Given the description of an element on the screen output the (x, y) to click on. 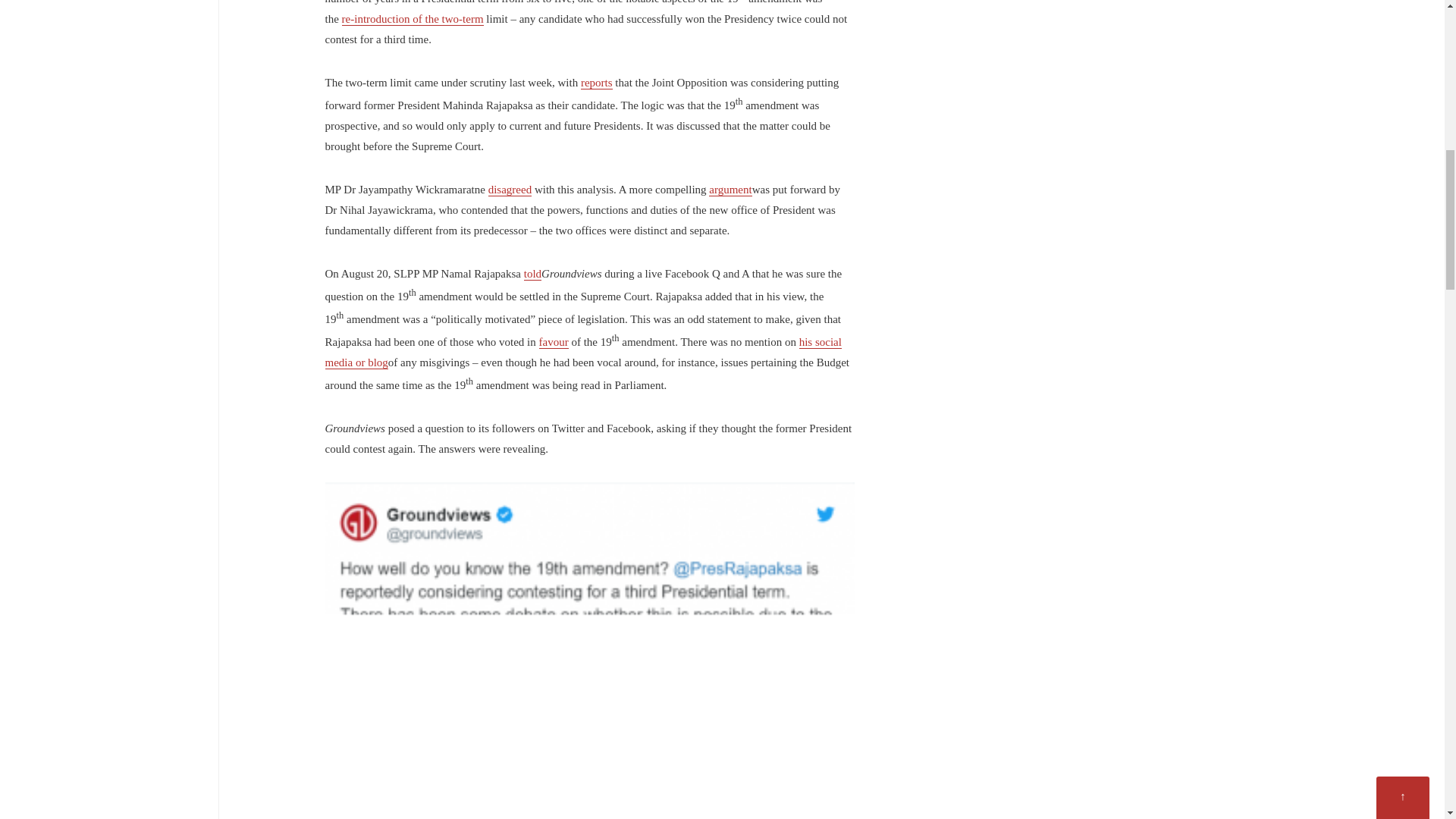
his social media or blog (582, 352)
reports (596, 82)
re-introduction of the two-term (412, 19)
argument (730, 189)
Scroll to top (1402, 1)
disagreed (509, 189)
told (532, 273)
favour (553, 341)
